Given the description of an element on the screen output the (x, y) to click on. 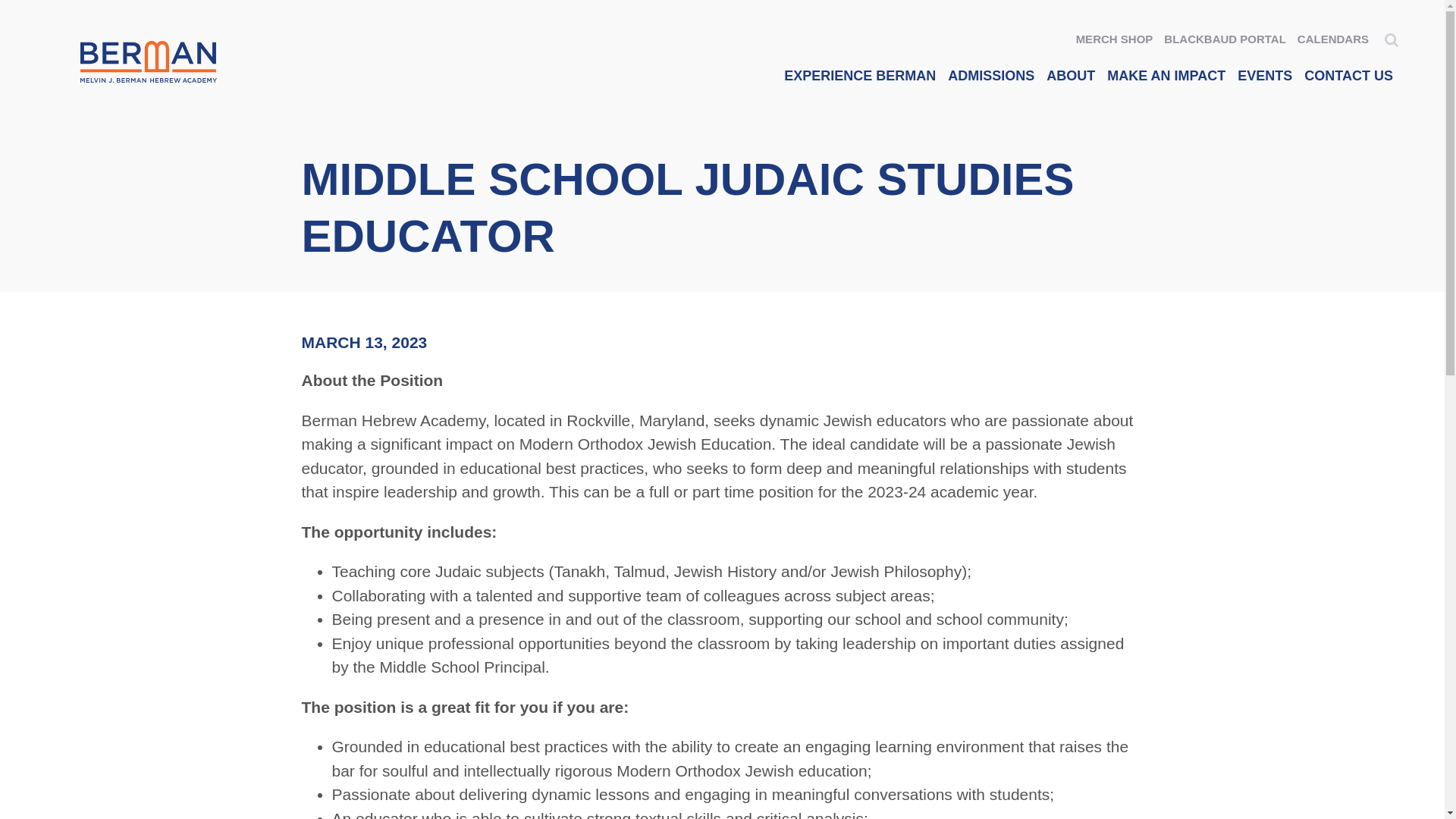
ADMISSIONS (991, 76)
BLACKBAUD PORTAL (1225, 39)
CALENDARS (1332, 39)
ABOUT (1070, 76)
EXPERIENCE BERMAN (859, 76)
MERCH SHOP (1114, 39)
